Given the description of an element on the screen output the (x, y) to click on. 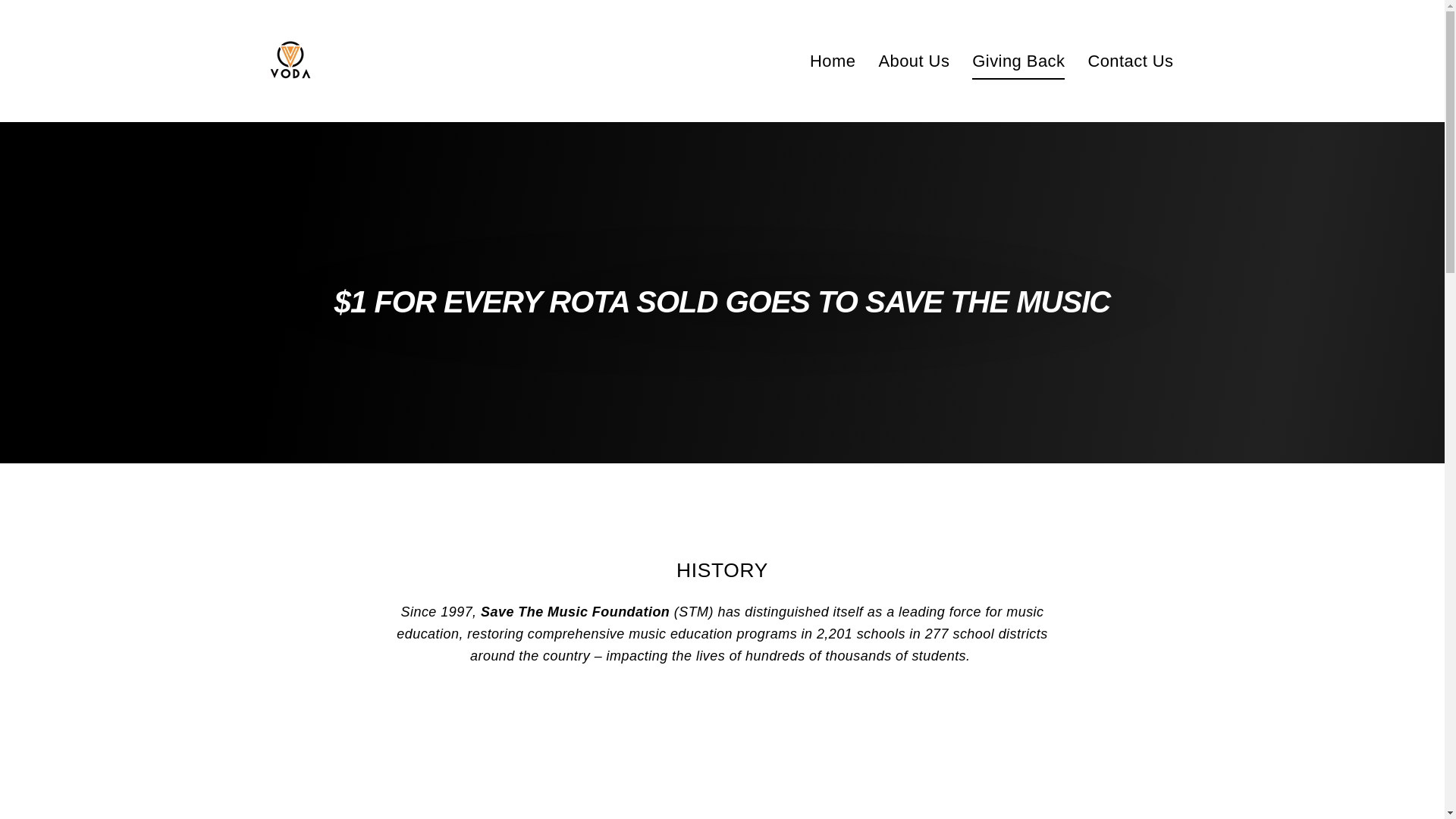
Home (831, 60)
About Us (913, 60)
Giving Back (1017, 60)
Contact Us (1130, 60)
